Given the description of an element on the screen output the (x, y) to click on. 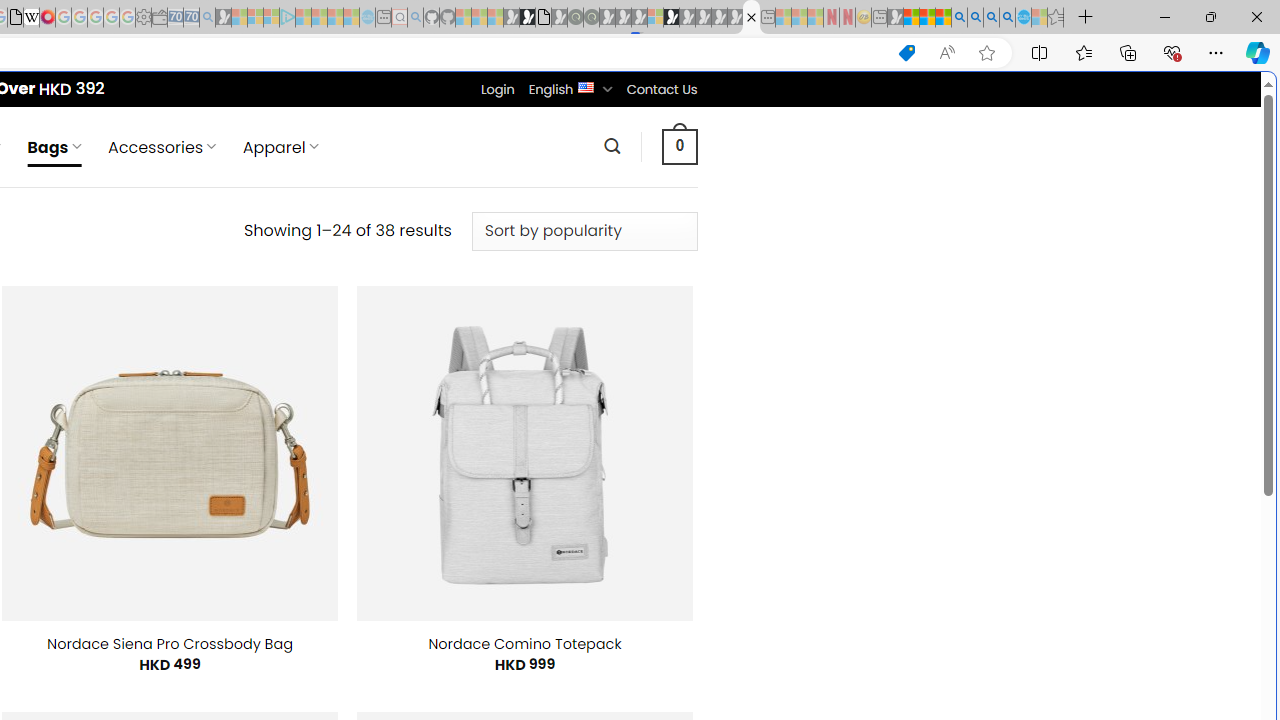
Search or enter web address (343, 191)
Login (497, 89)
